Given the description of an element on the screen output the (x, y) to click on. 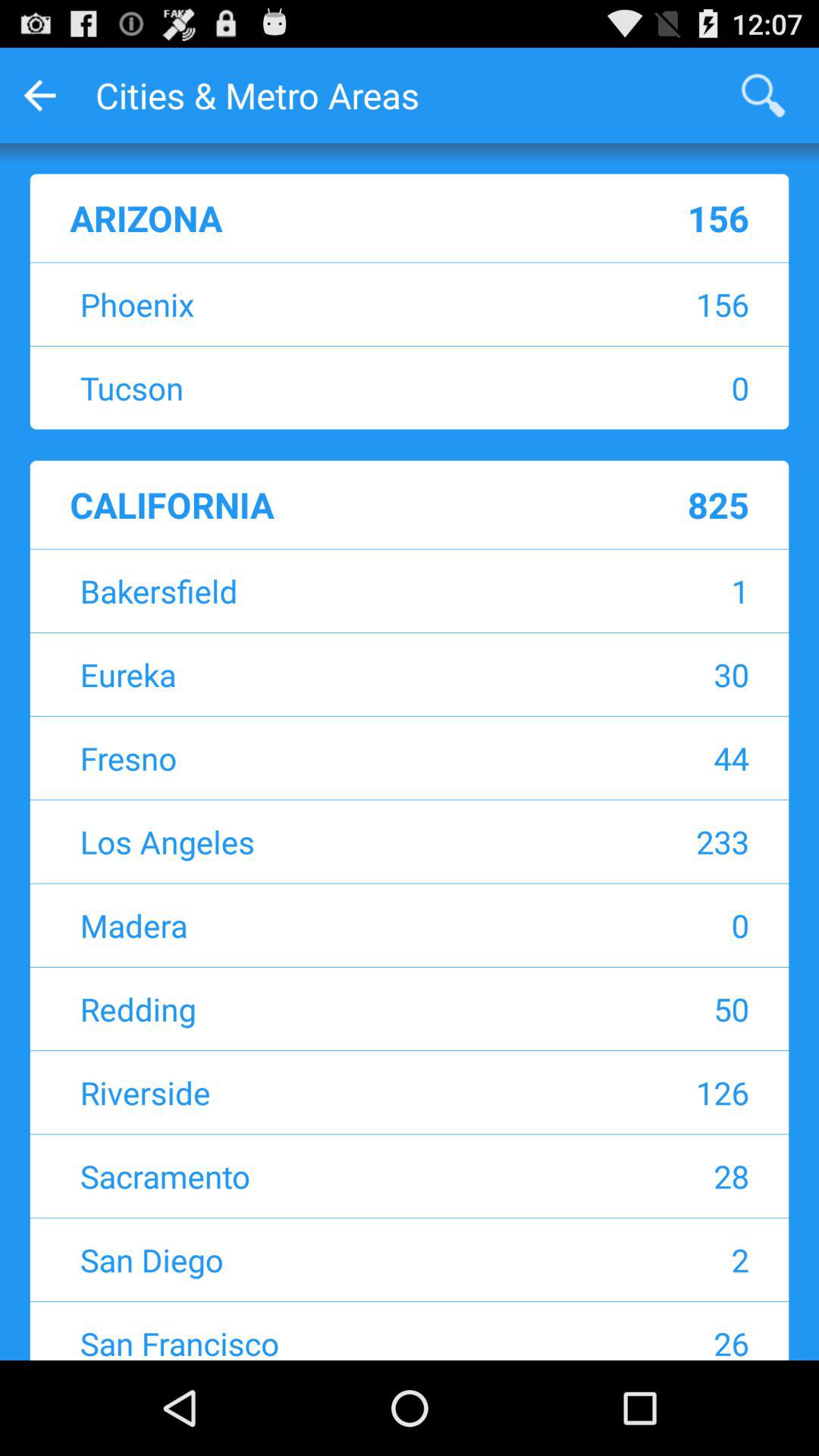
open the item to the left of 44 icon (314, 757)
